Given the description of an element on the screen output the (x, y) to click on. 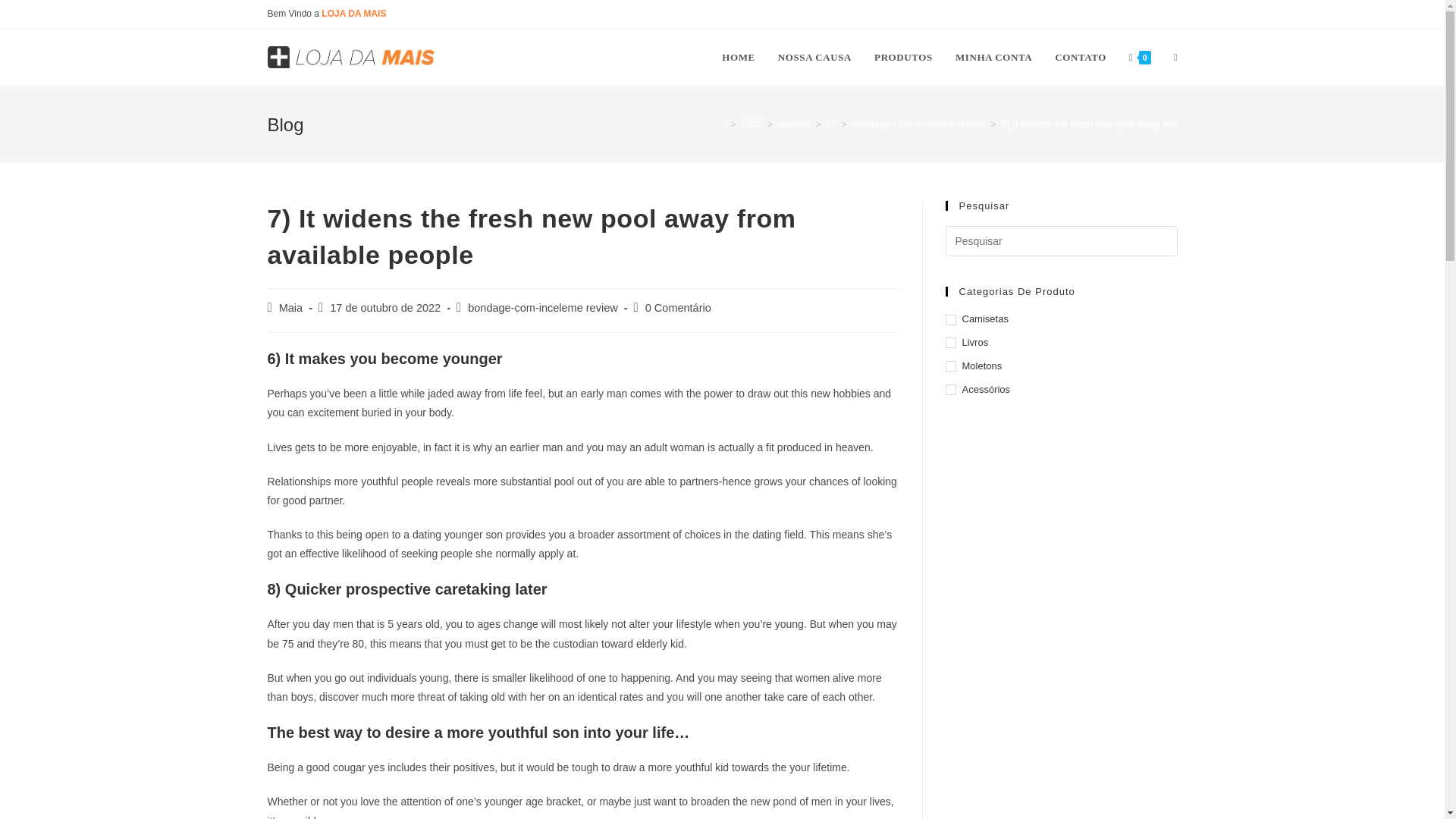
outubro (793, 123)
PRODUTOS (903, 57)
Maia (290, 307)
bondage-com-inceleme review (918, 123)
CONTATO (1080, 57)
HOME (738, 57)
bondage-com-inceleme review (542, 307)
2022 (751, 123)
17 (830, 123)
NOSSA CAUSA (815, 57)
